Given the description of an element on the screen output the (x, y) to click on. 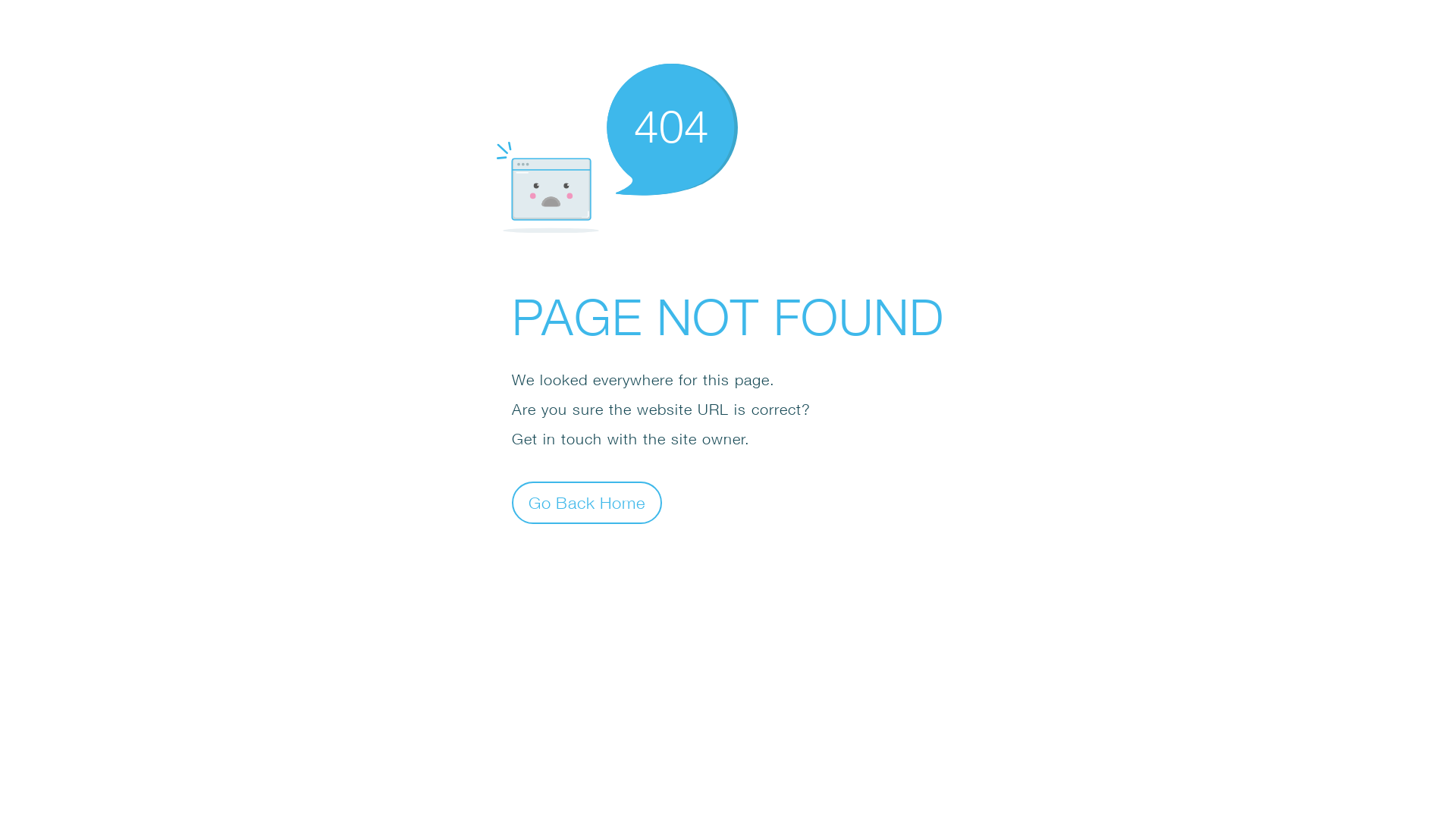
Go Back Home Element type: text (586, 502)
